Given the description of an element on the screen output the (x, y) to click on. 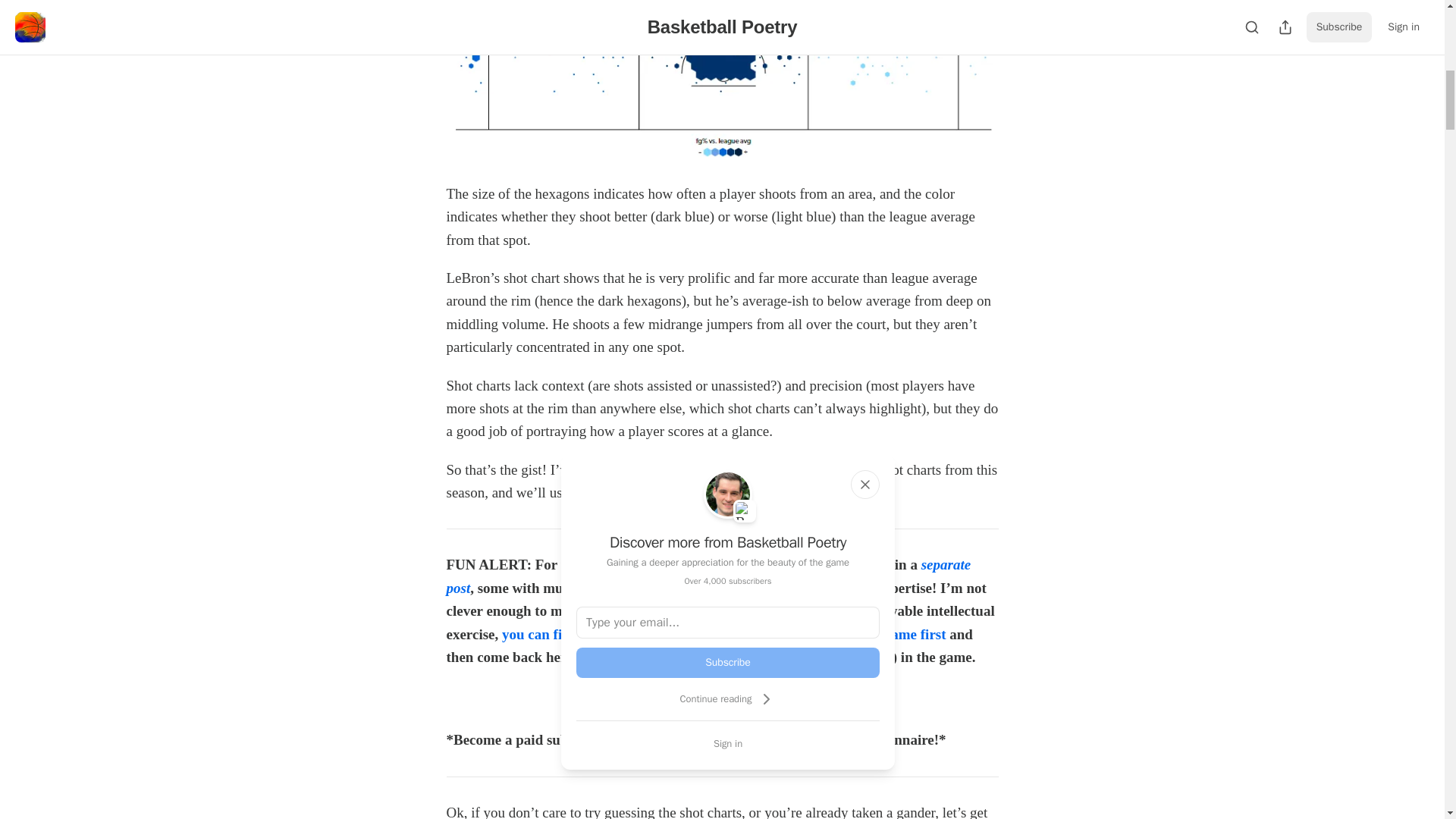
you can find the link here (580, 634)
Sign in (727, 743)
Subscribe (827, 698)
separate post (708, 575)
Subscribe (727, 662)
play the game first (887, 634)
